Given the description of an element on the screen output the (x, y) to click on. 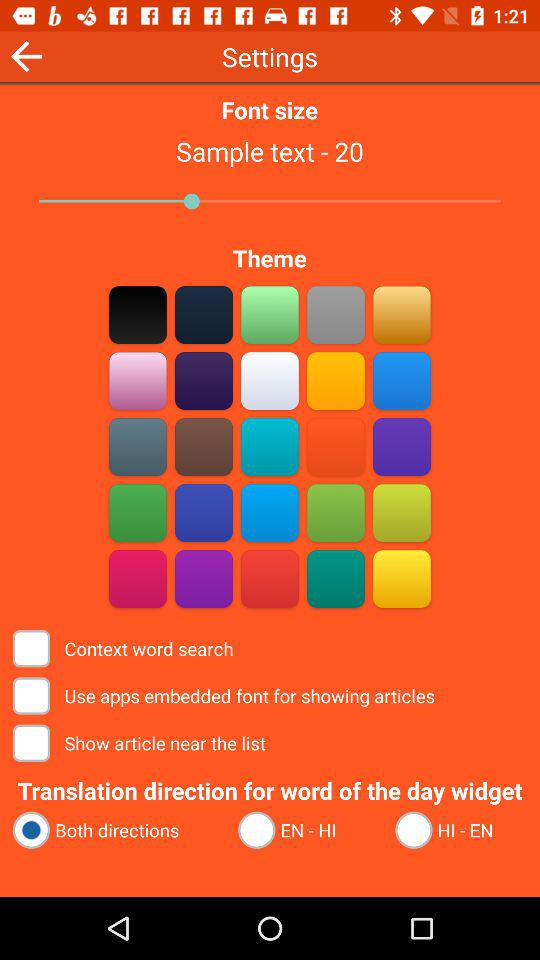
toggle a color select option (269, 446)
